Given the description of an element on the screen output the (x, y) to click on. 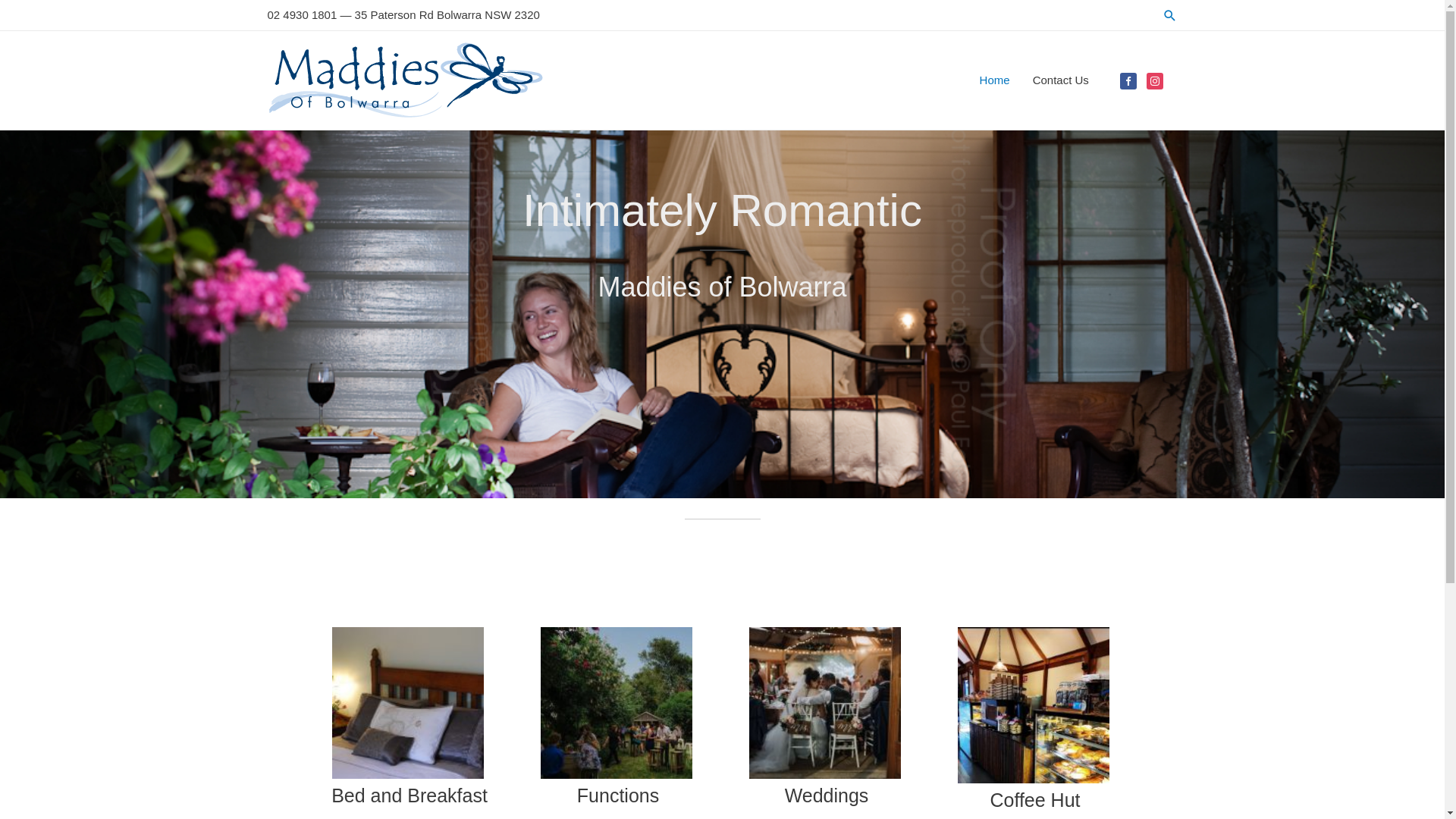
Search Element type: text (1169, 14)
facebook Element type: text (1128, 80)
Contact Us Element type: text (1060, 80)
Search Element type: text (37, 14)
instagram Element type: text (1154, 80)
Home Element type: text (994, 80)
